Given the description of an element on the screen output the (x, y) to click on. 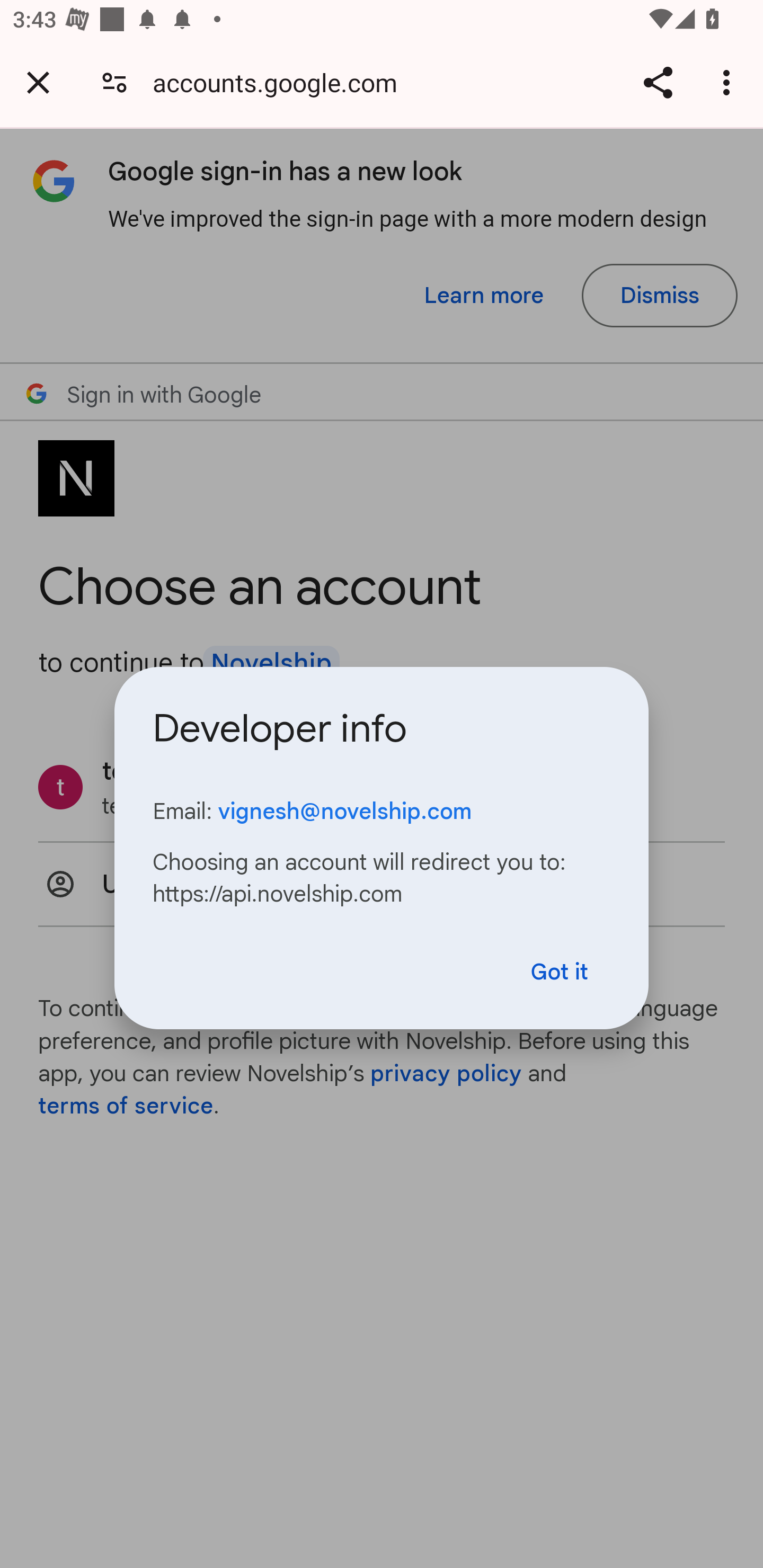
Close tab (38, 82)
Share (657, 82)
Customize and control Google Chrome (729, 82)
Connection is secure (114, 81)
accounts.google.com (281, 81)
vignesh@novelship.com (344, 811)
Got it (559, 972)
